Given the description of an element on the screen output the (x, y) to click on. 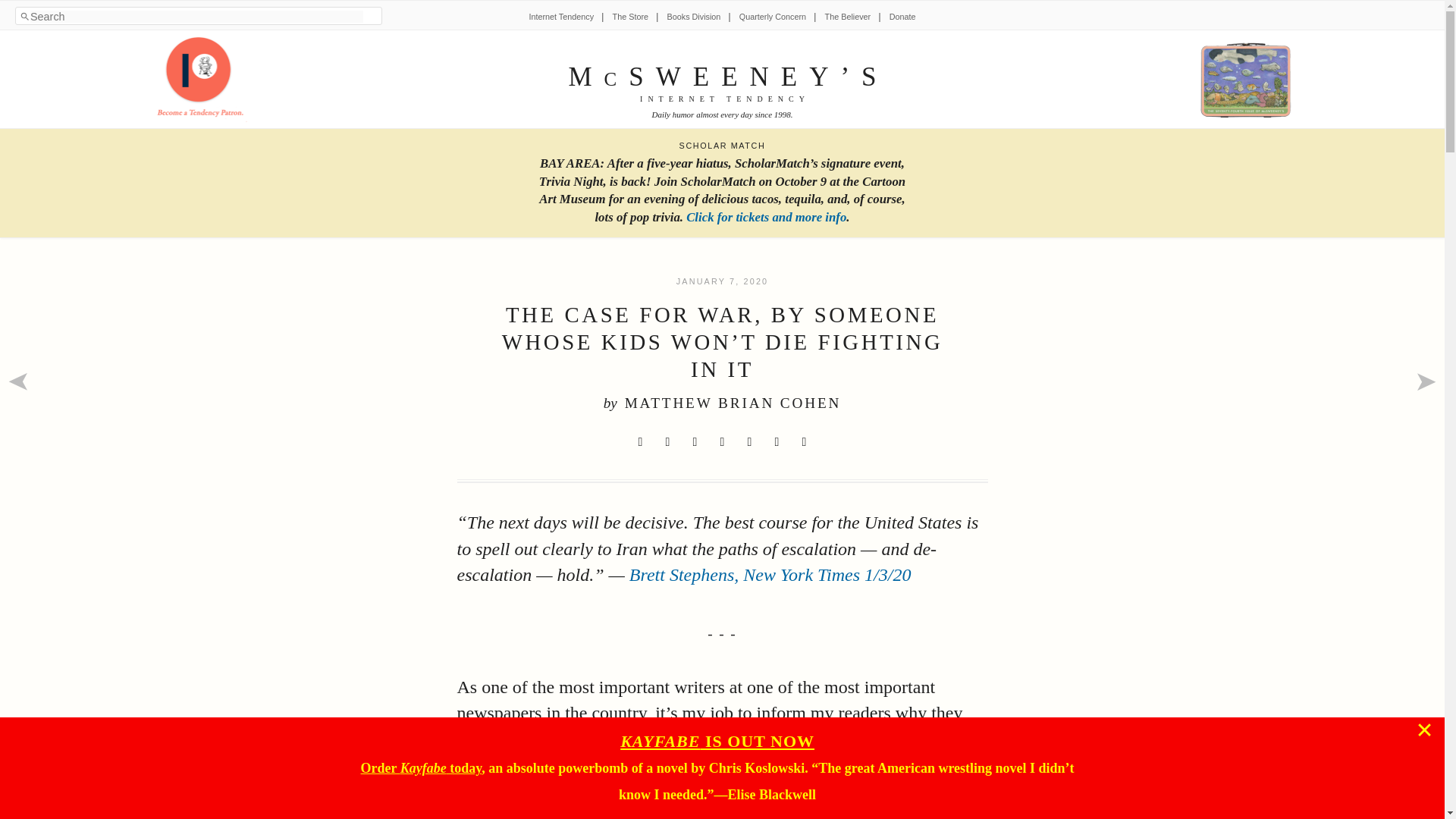
Quarterly Concern (772, 16)
MATTHEW BRIAN COHEN (732, 402)
Search Field (196, 16)
Share to Email (777, 441)
Click for tickets and more info (765, 216)
The Store (629, 16)
Share to X (640, 441)
Donate (902, 16)
Internet Tendency (561, 16)
Share to Threads (749, 441)
